Given the description of an element on the screen output the (x, y) to click on. 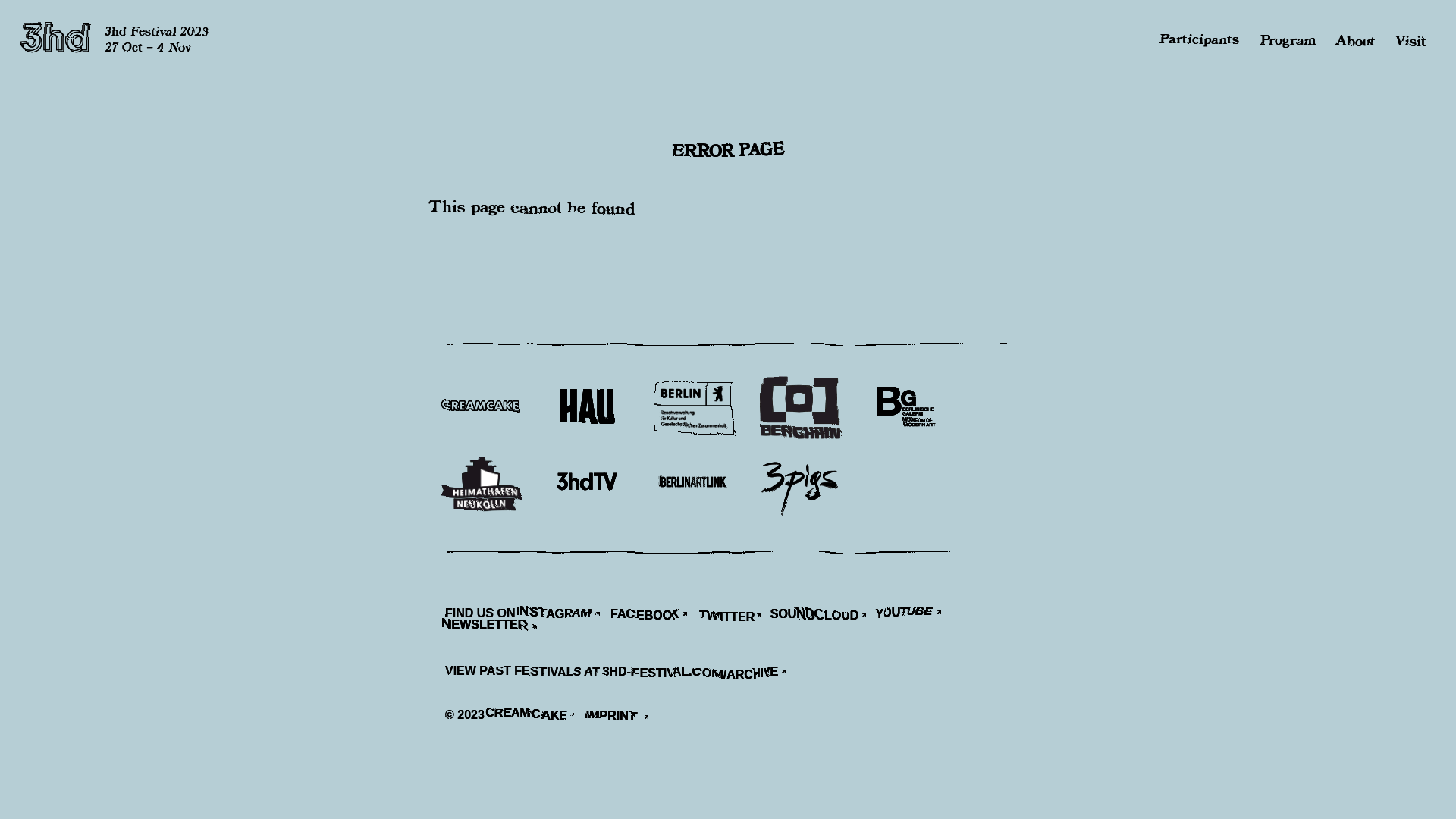
3HD-FESTIVAL.COM/ARCHIVE Element type: text (699, 672)
INSTAGRAM Element type: text (564, 614)
IMPRINT  Element type: text (621, 716)
SOUNDCLOUD Element type: text (822, 614)
About Element type: text (1355, 40)
YOUTUBE Element type: text (914, 614)
NEWSLETTER Element type: text (496, 628)
Visit Element type: text (1409, 40)
TWITTER Element type: text (733, 614)
Program Element type: text (1288, 40)
CREAMCAKE Element type: text (536, 716)
Participants Element type: text (1200, 40)
FACEBOOK Element type: text (653, 614)
